Given the description of an element on the screen output the (x, y) to click on. 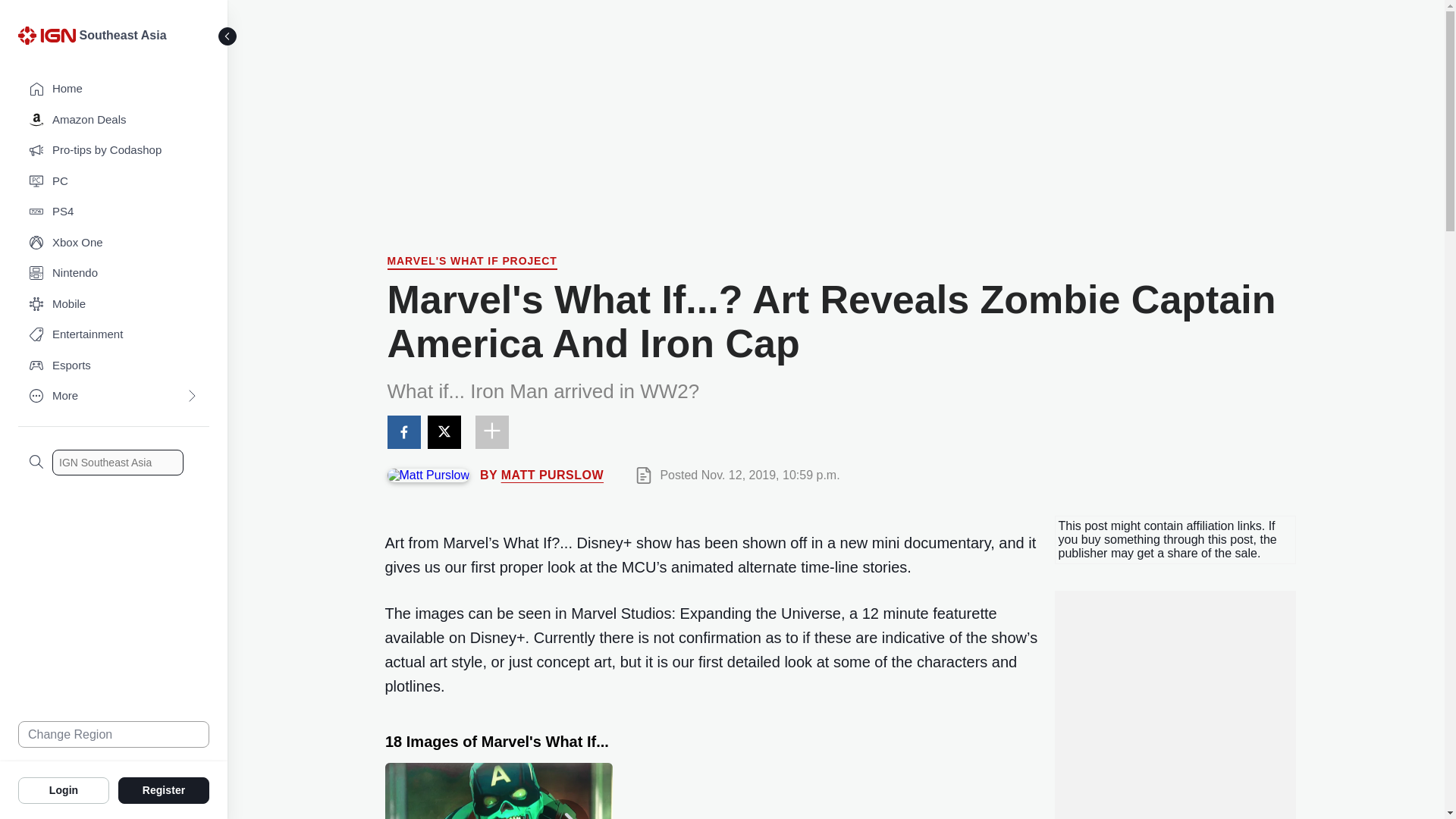
More (113, 396)
Amazon Deals (113, 119)
PS4 (113, 211)
IGN Logo (48, 39)
Login (63, 789)
Pro-tips by Codashop (113, 150)
Register (163, 789)
Home (113, 89)
Marvel's What If Project (471, 262)
PC (113, 181)
Toggle Sidebar (226, 36)
Esports (113, 365)
Mobile (113, 304)
MATT PURSLOW (552, 474)
Xbox One (113, 242)
